Given the description of an element on the screen output the (x, y) to click on. 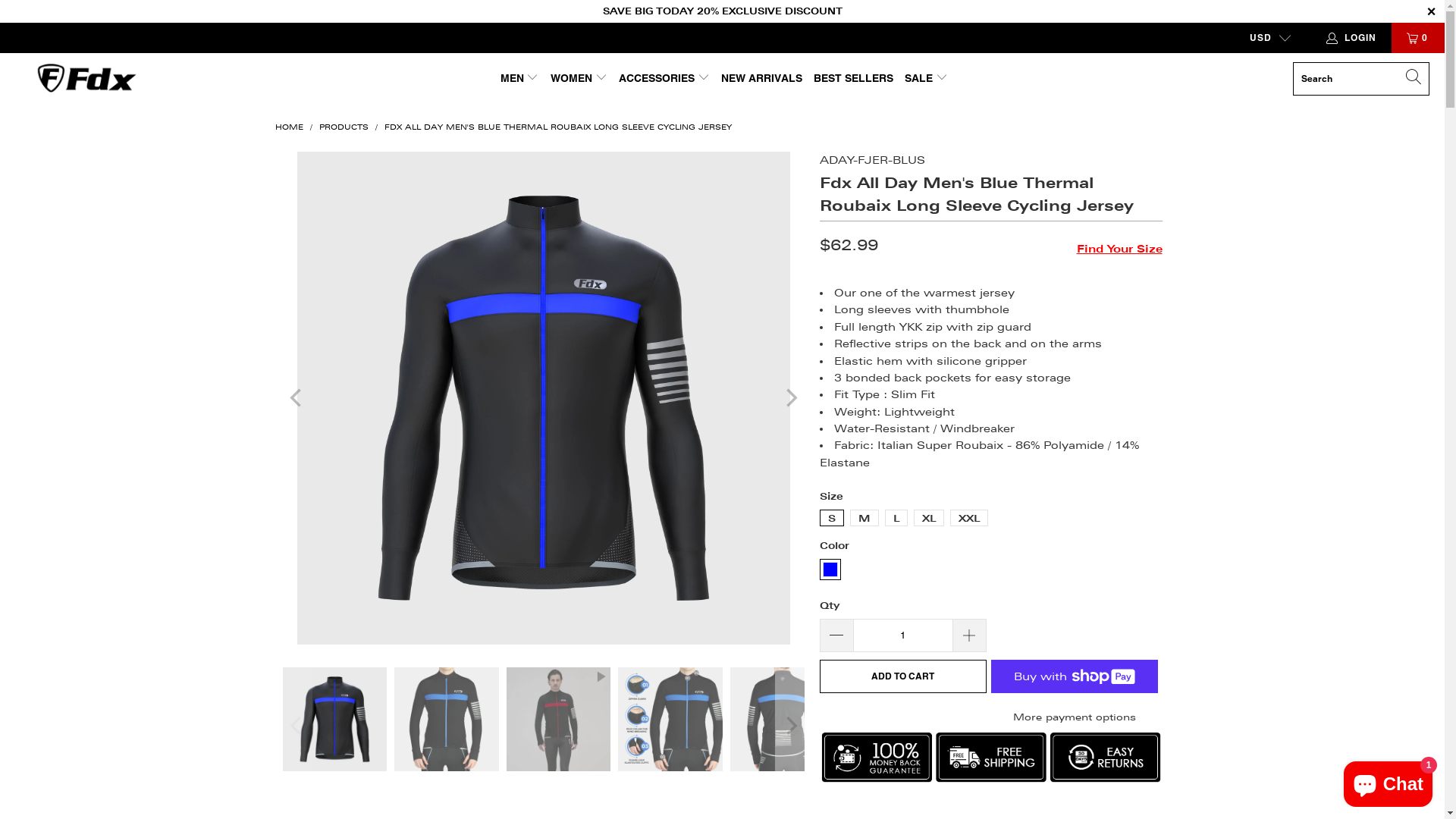
WOMEN Element type: text (578, 78)
USD Element type: text (1263, 37)
More payment options Element type: text (1073, 715)
NEW ARRIVALS Element type: text (761, 78)
BEST SELLERS Element type: text (853, 78)
LOGIN Element type: text (1352, 37)
0 Element type: text (1417, 37)
MEN Element type: text (519, 78)
ACCESSORIES Element type: text (663, 78)
PRODUCTS Element type: text (342, 126)
Find Your Size Element type: text (1119, 246)
SALE Element type: text (925, 78)
Shopify online store chat Element type: hover (1388, 780)
HOME Element type: text (288, 126)
ADD TO CART Element type: text (902, 676)
FDX Sports US Element type: hover (85, 78)
